Given the description of an element on the screen output the (x, y) to click on. 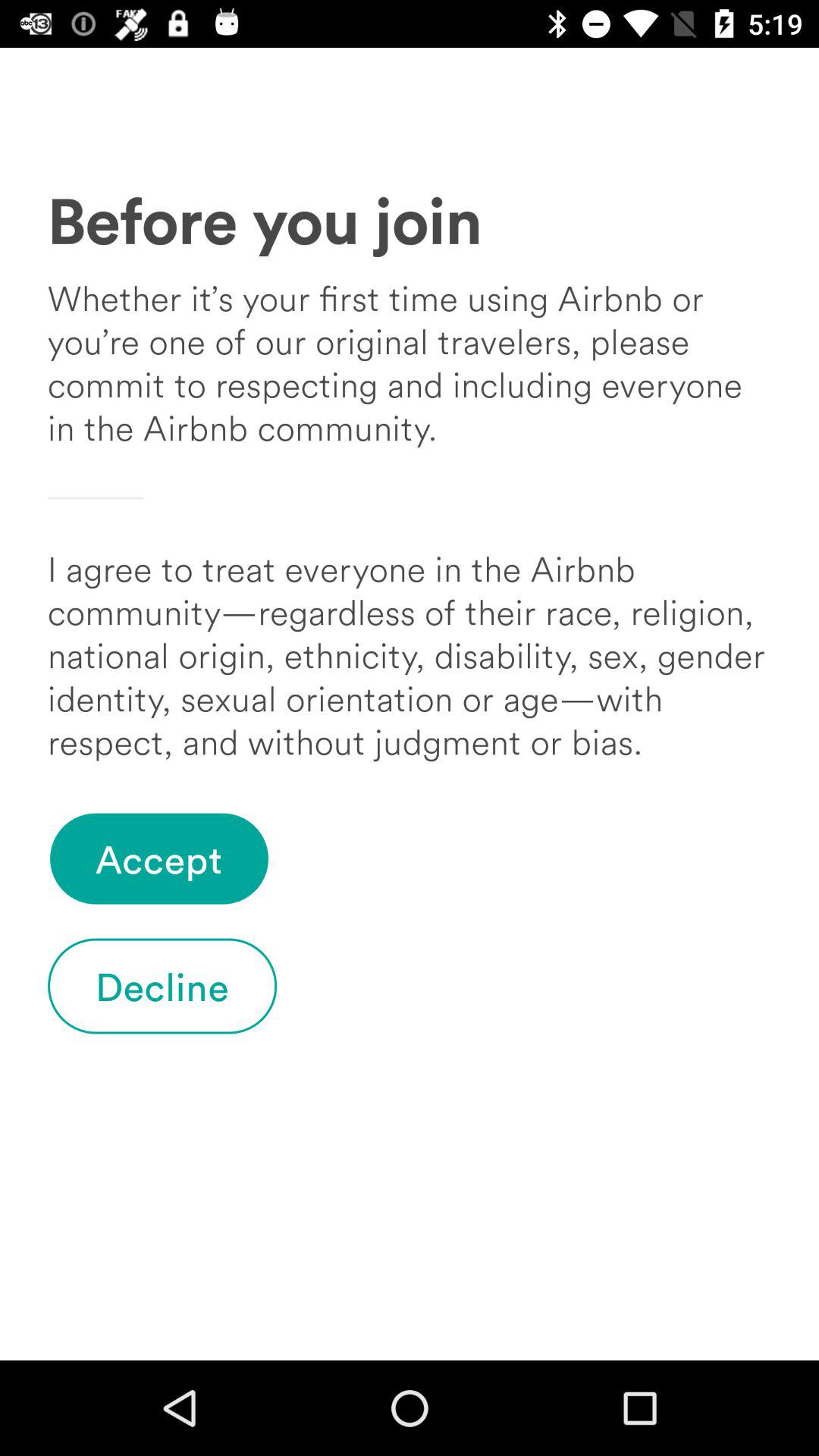
press the item below accept icon (161, 985)
